Given the description of an element on the screen output the (x, y) to click on. 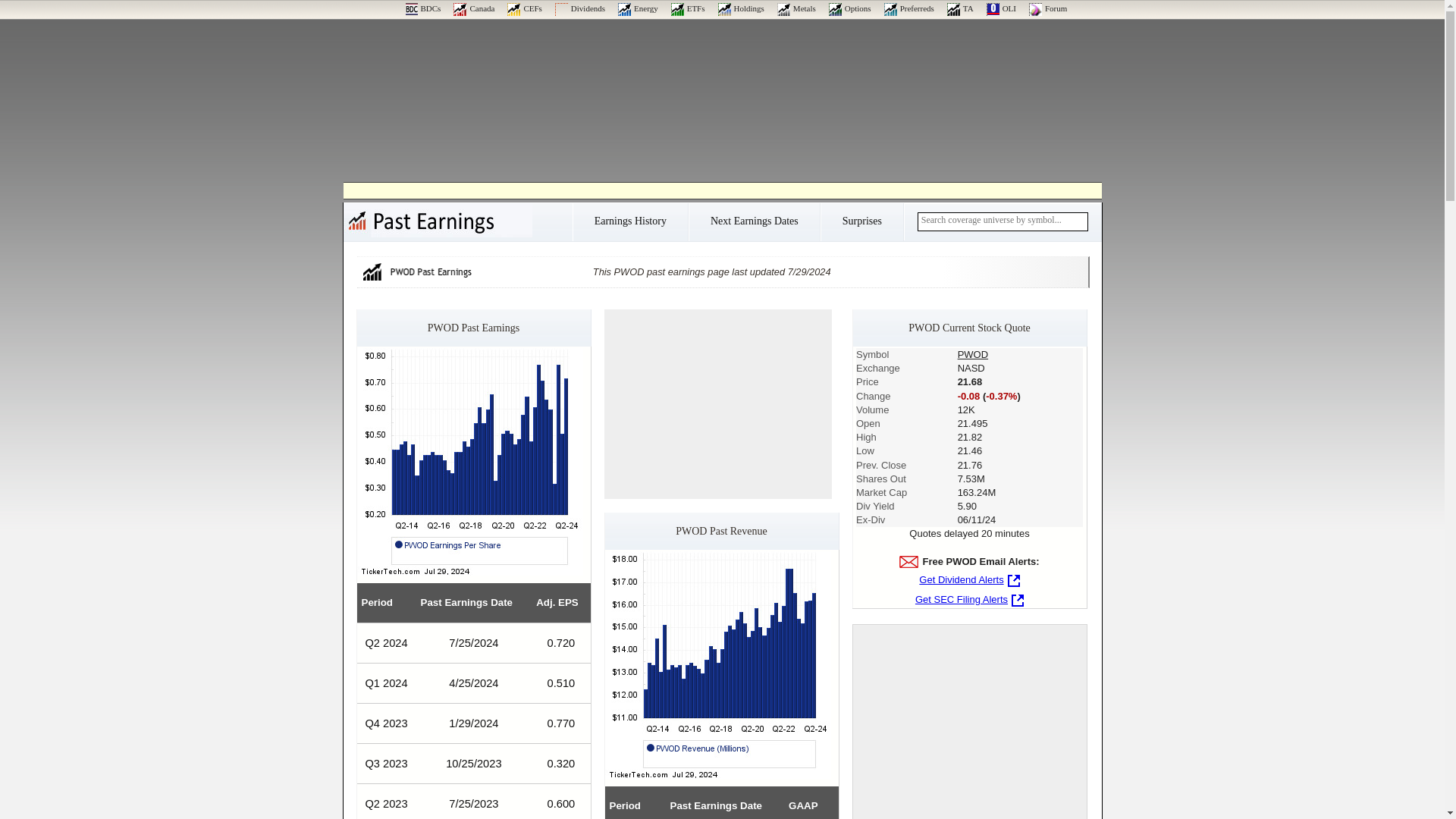
TA (960, 8)
Enery Stock Channel (637, 8)
Metals Channel (796, 8)
Forum (1048, 8)
Canada (473, 8)
Energy (637, 8)
ETF Channel (687, 8)
BDC Investor (422, 8)
Earnings History (629, 225)
Get SEC Filing Alerts (969, 599)
